Given the description of an element on the screen output the (x, y) to click on. 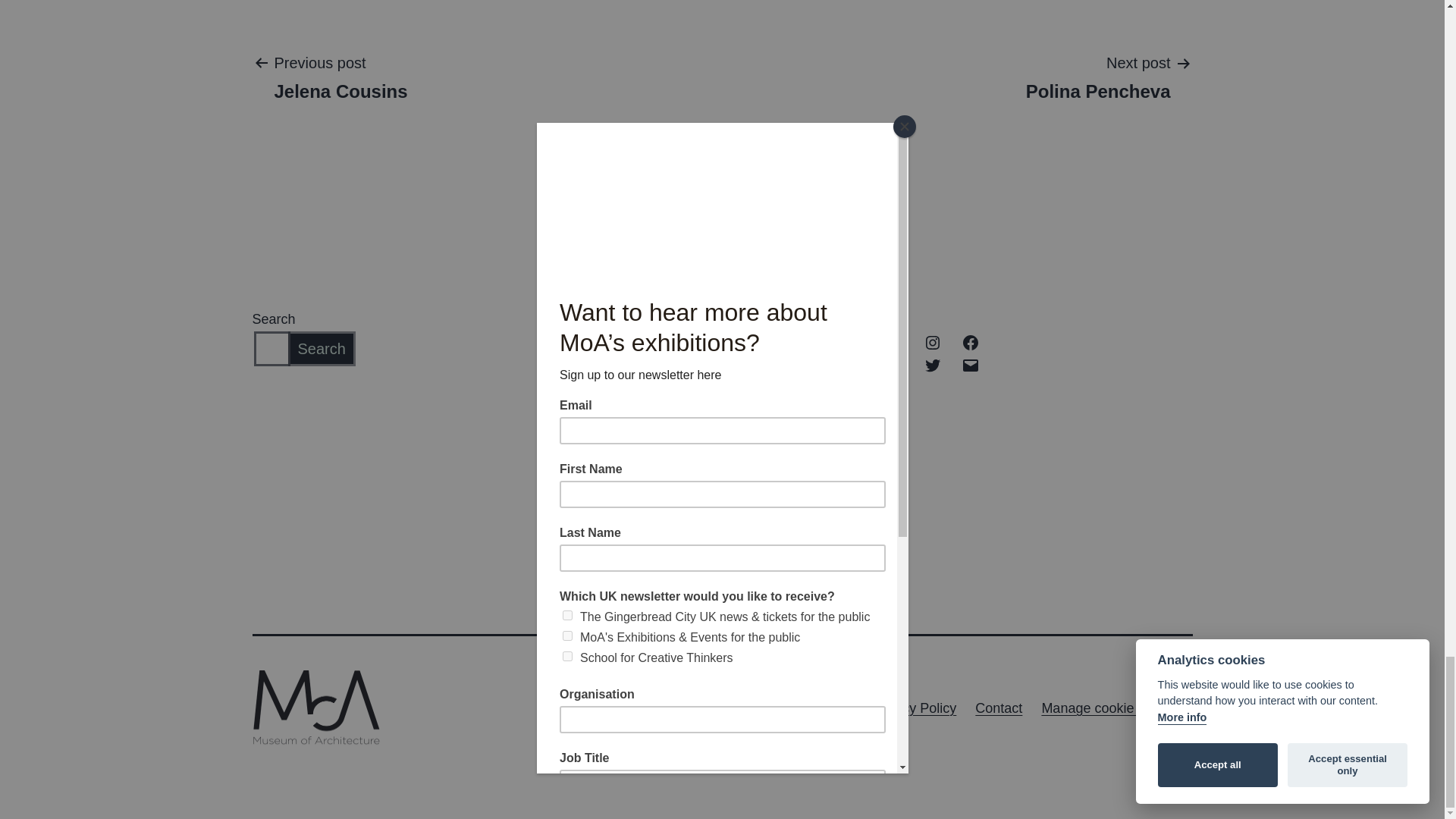
Twitter (933, 364)
Contact (998, 708)
Privacy Policy (913, 708)
Facebook (340, 76)
Instagram (971, 341)
Email (933, 341)
Manage cookie settings (971, 364)
Search (1098, 76)
